Given the description of an element on the screen output the (x, y) to click on. 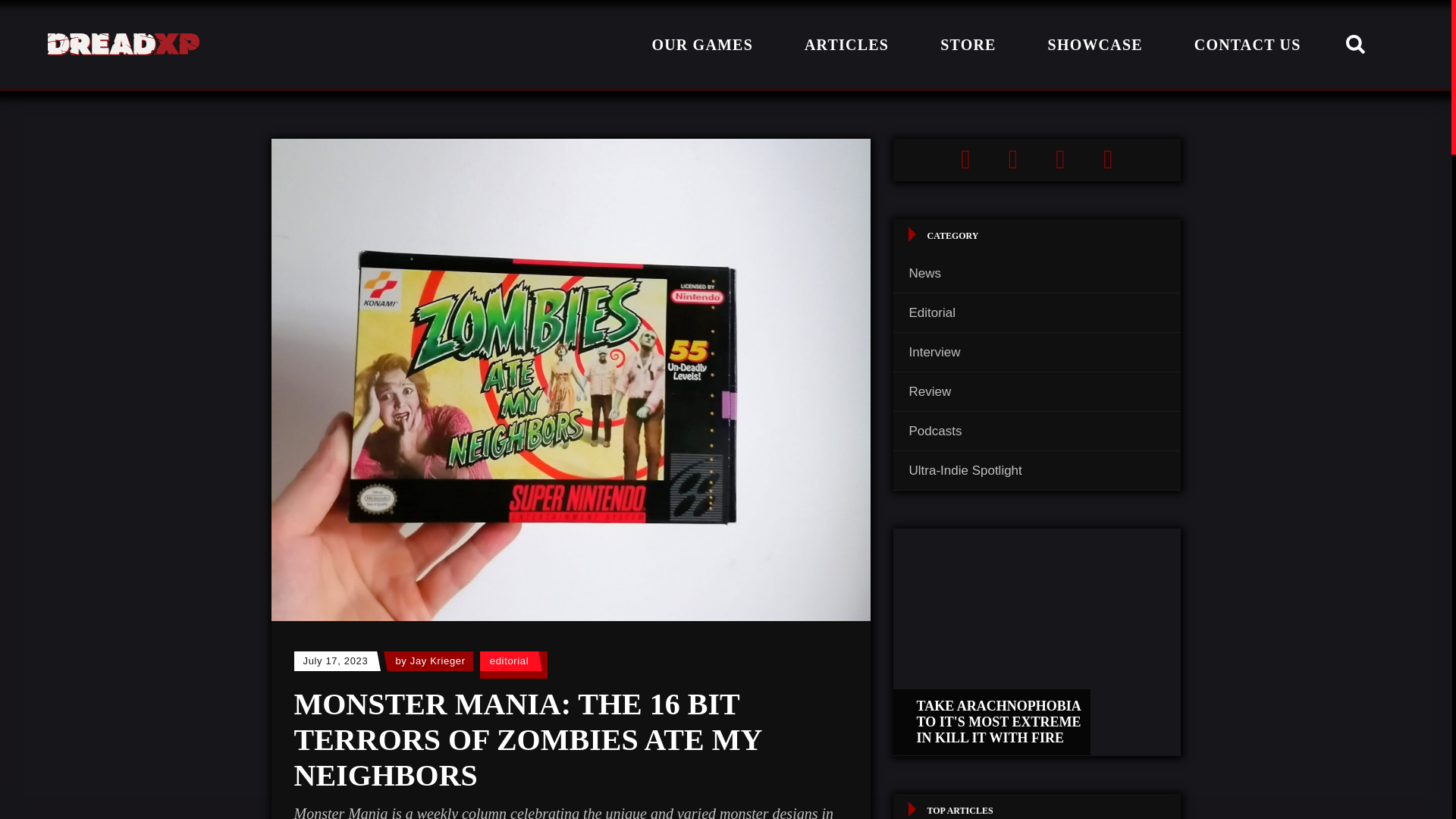
Shift-click to edit this widget. (1036, 159)
OUR GAMES (702, 44)
ARTICLES (846, 44)
SHOWCASE (1095, 44)
STORE (967, 44)
CONTACT US (1247, 44)
